Given the description of an element on the screen output the (x, y) to click on. 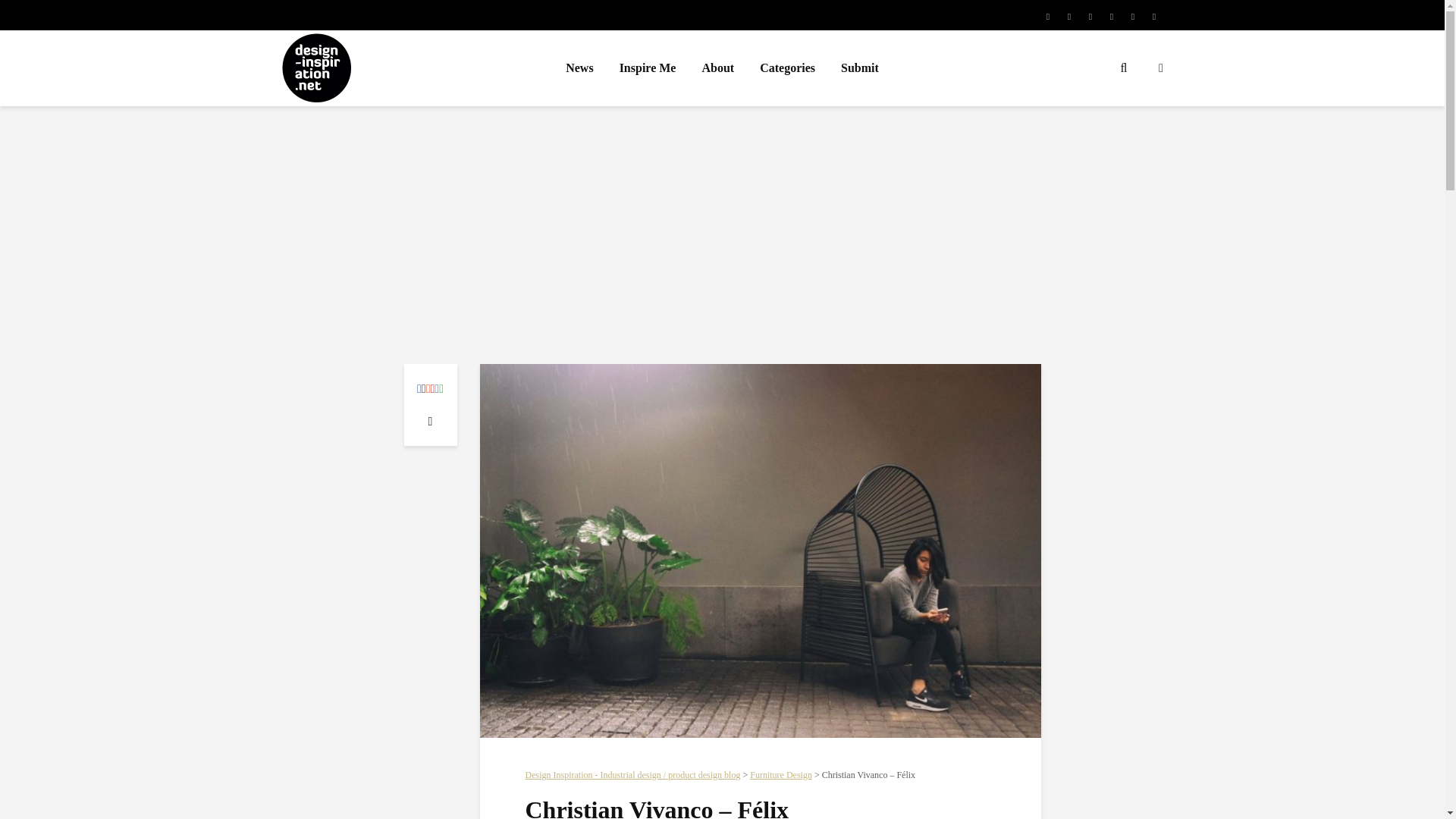
About (717, 68)
Inspire Me (647, 68)
Categories (787, 68)
Submit (859, 68)
News (579, 68)
Go to the Furniture Design category archives. (780, 774)
